Given the description of an element on the screen output the (x, y) to click on. 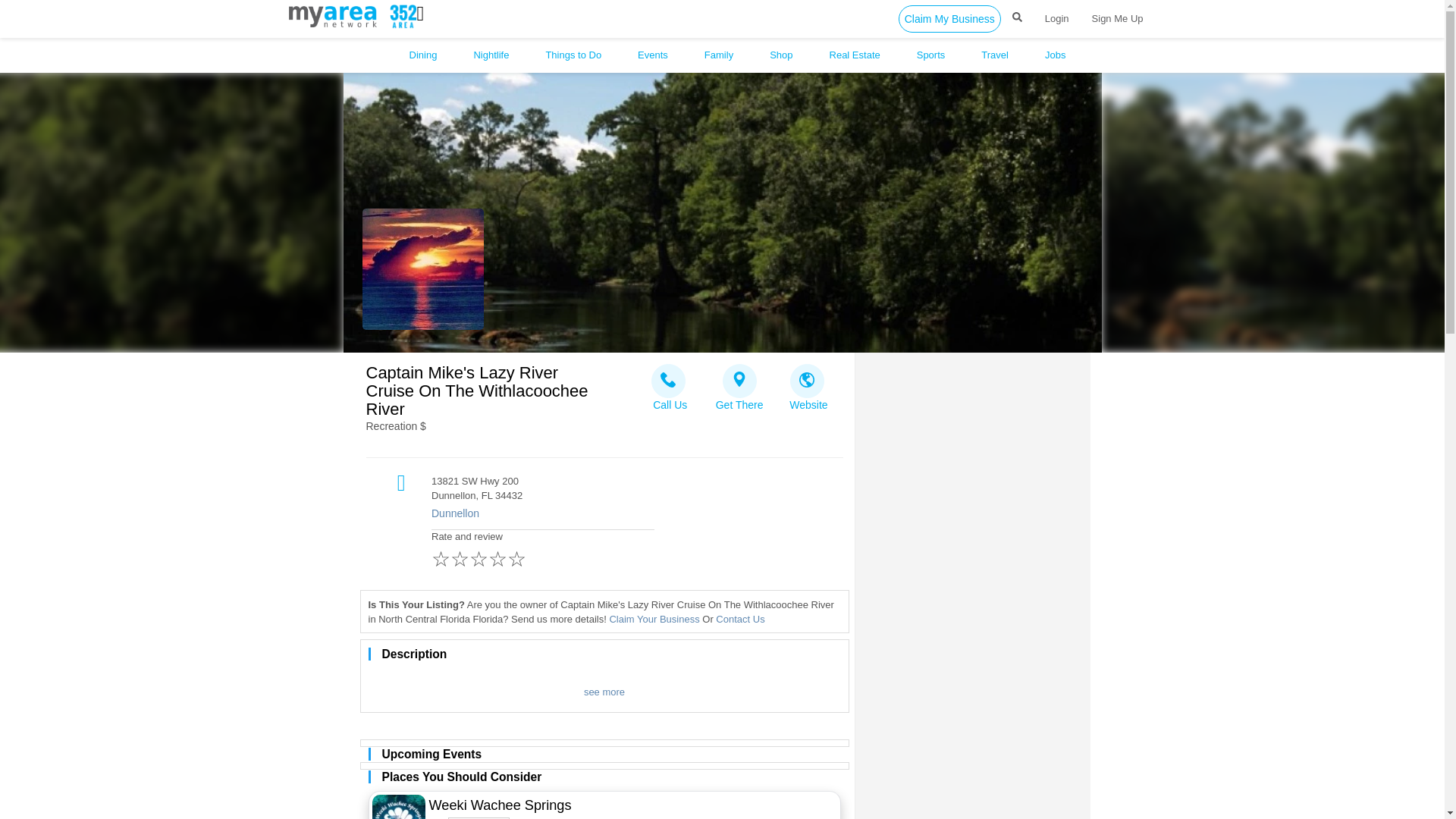
Get There (739, 382)
Claim My Business (949, 18)
Claim Your Business (653, 618)
Login (1056, 18)
Website (808, 382)
Login (1056, 18)
Rate and review (541, 551)
Sign Me Up (1117, 18)
Weeki Wachee Springs (548, 805)
Call Us (670, 382)
Claim My Business (949, 18)
Contact Us (740, 618)
Dunnellon (626, 513)
Dunnellon (626, 513)
Sign Me Up (1117, 18)
